Given the description of an element on the screen output the (x, y) to click on. 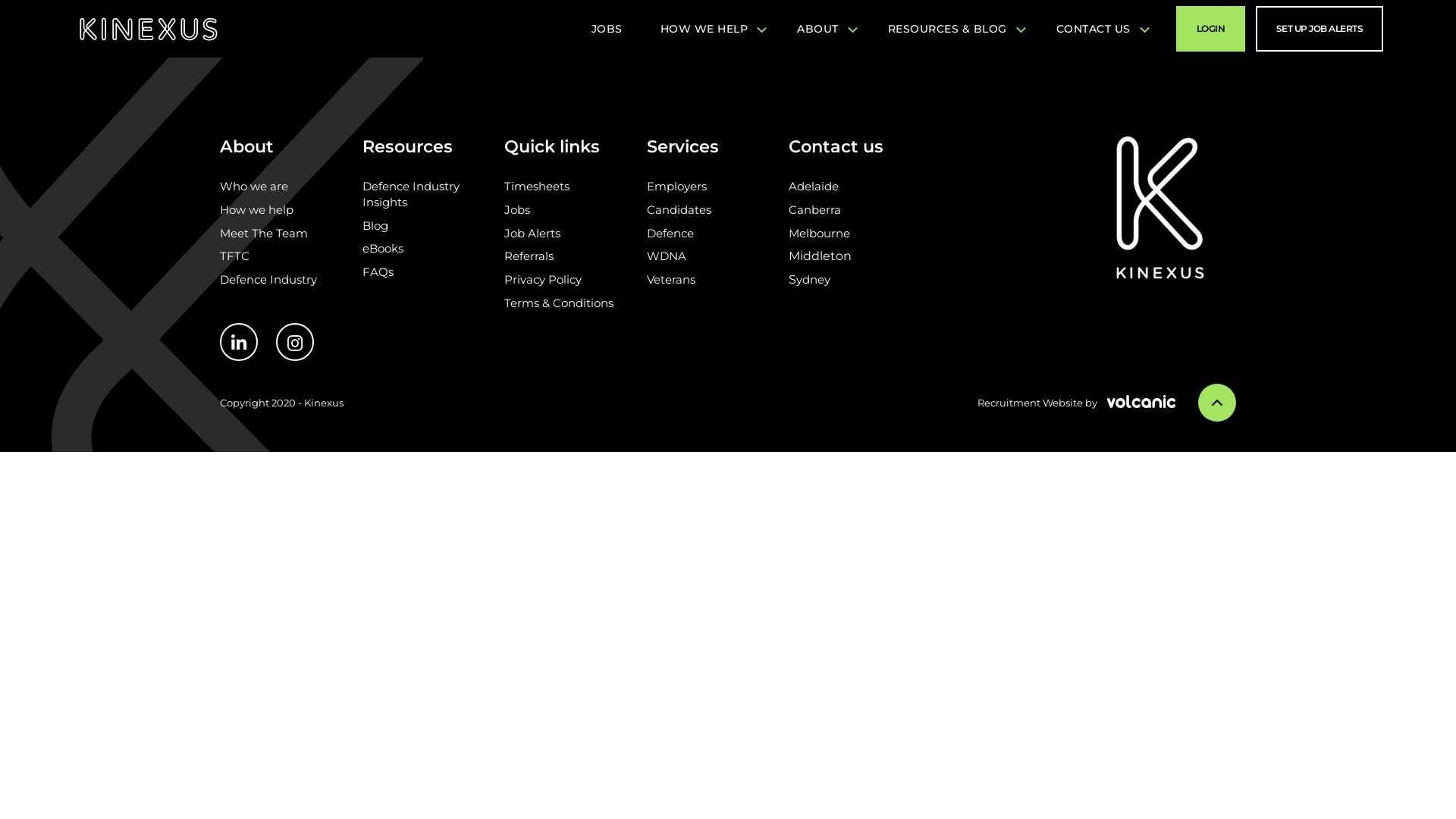
WDNA Element type: text (666, 255)
Kinexus Element type: text (148, 28)
Adelaide Element type: text (813, 185)
Canberra Element type: text (814, 209)
LOGIN Element type: text (1210, 28)
Employers Element type: text (676, 185)
CONTACT US Element type: text (1099, 28)
ydney Element type: text (813, 279)
HOW WE HELP Element type: text (709, 28)
JOBS Element type: text (605, 28)
Jobs Element type: text (517, 209)
Defence Industry Insights Element type: text (410, 193)
Melbourne Element type: text (819, 232)
How we help Element type: text (256, 209)
eBooks Element type: text (382, 248)
ABOUT Element type: text (823, 28)
Meet The Team Element type: text (263, 232)
SET UP JOB ALERTS Element type: text (1319, 28)
Timesheets Element type: text (536, 185)
Candidates Element type: text (678, 209)
Job Alerts Element type: text (532, 232)
Defence Element type: text (669, 232)
RESOURCES & BLOG Element type: text (953, 28)
FAQs Element type: text (377, 271)
Terms & Conditions Element type: text (558, 302)
Recruitment Website by Volcanic Element type: text (1076, 402)
Who we are Element type: text (253, 185)
Privacy Policy Element type: text (542, 279)
Referrals Element type: text (528, 255)
Defence Industry Element type: text (267, 279)
Veterans Element type: text (670, 279)
TFTC Element type: text (234, 255)
Blog Element type: text (375, 225)
